Given the description of an element on the screen output the (x, y) to click on. 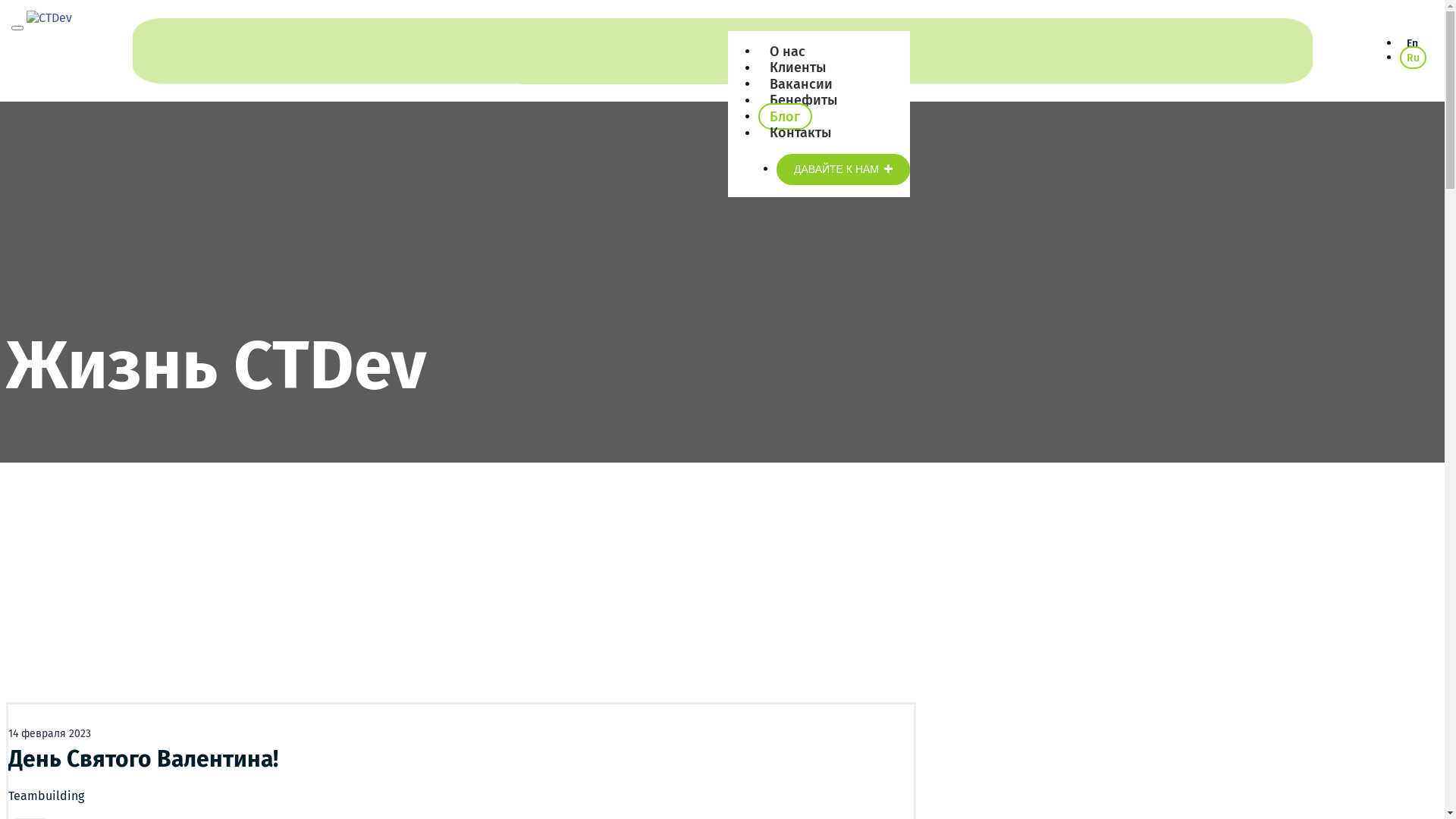
Ru Element type: text (1412, 57)
En Element type: text (1411, 43)
Toggle navigation Element type: text (17, 27)
